Given the description of an element on the screen output the (x, y) to click on. 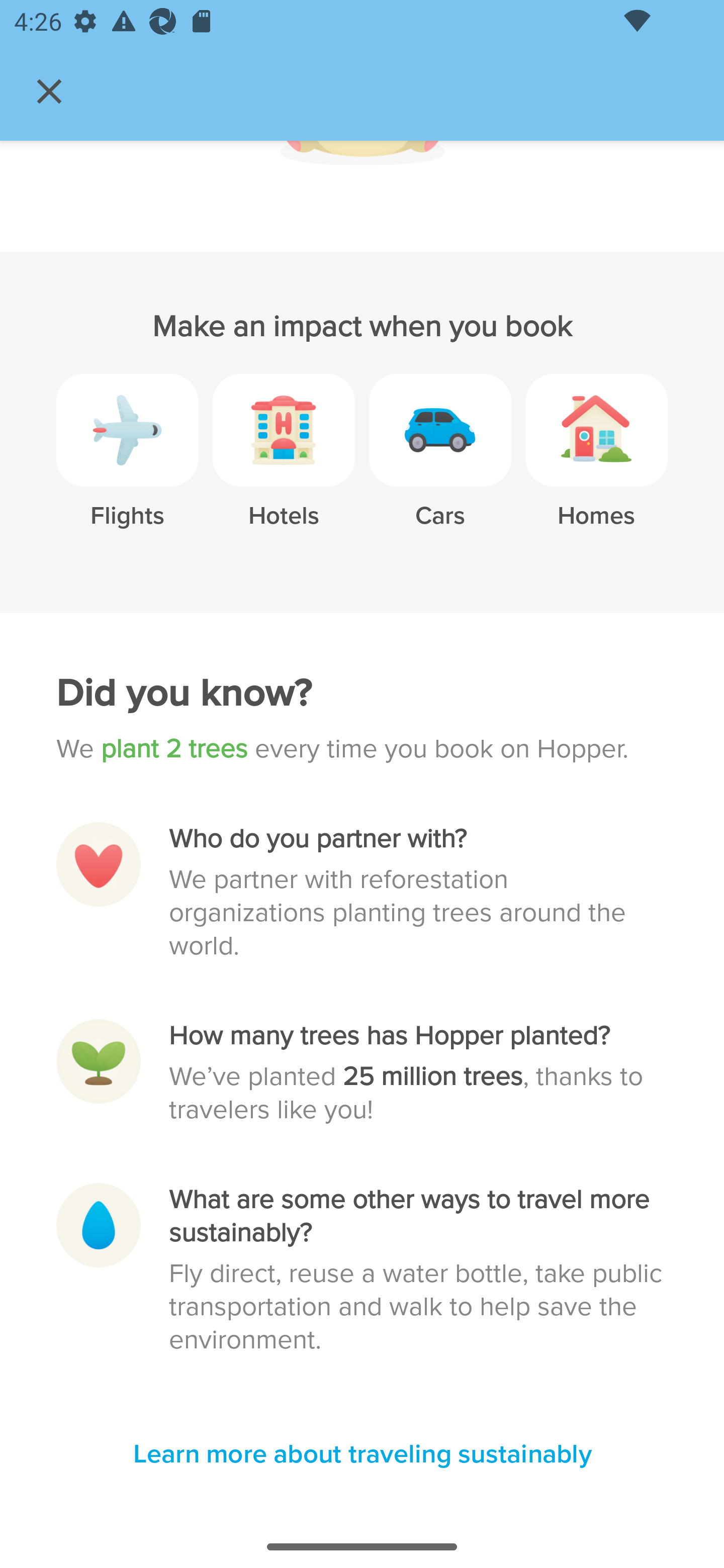
Navigate up (49, 91)
Flights (127, 464)
Hotels (283, 464)
Cars (440, 464)
Homes (596, 464)
‍Learn more about traveling sustainably (361, 1454)
